Given the description of an element on the screen output the (x, y) to click on. 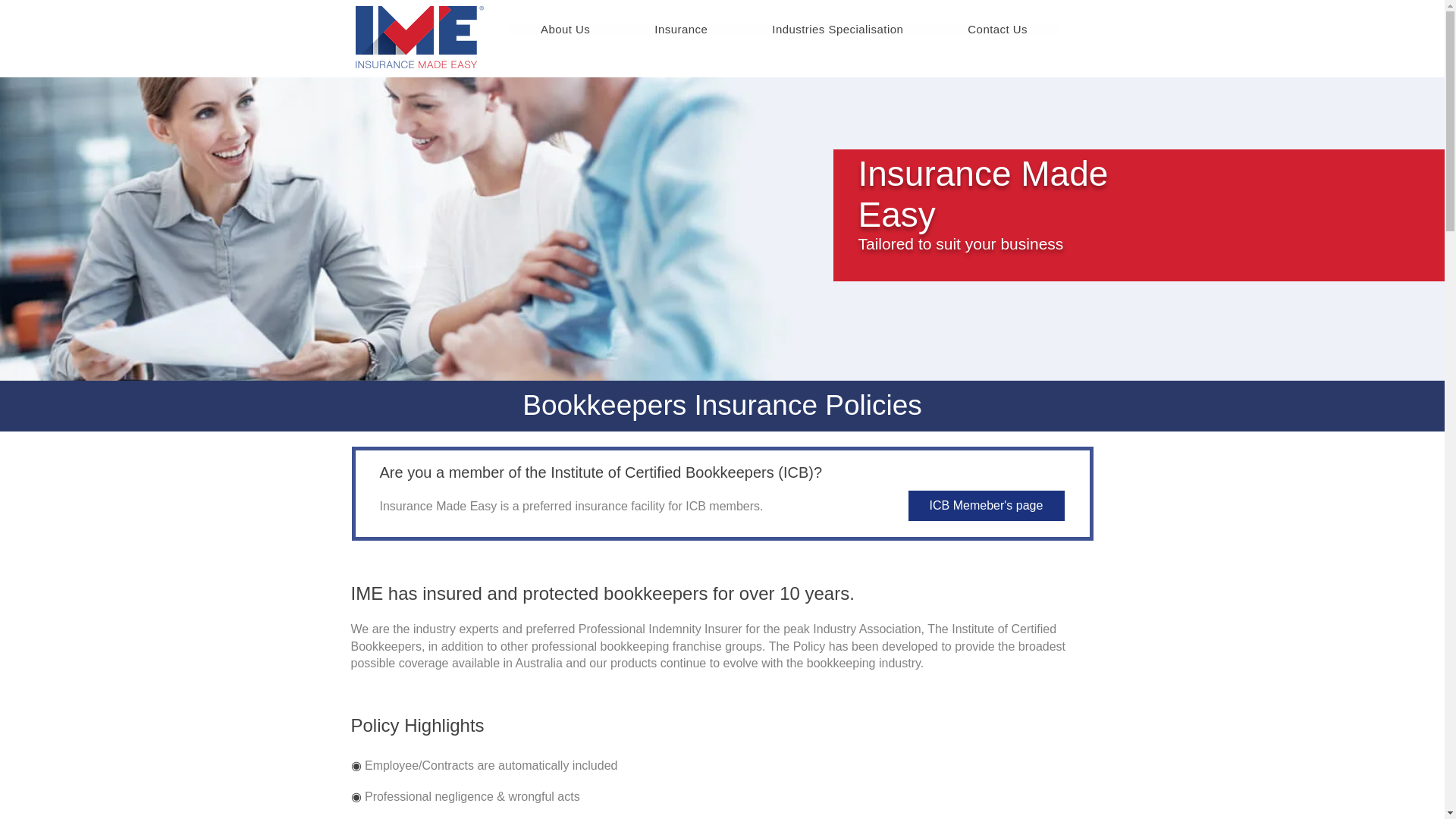
Contact Us (997, 29)
IME-Insurance-Made-Easy-Brokers-1992-log (419, 36)
Insurance (681, 29)
About Us (564, 29)
ICB Memeber's page (986, 505)
